Given the description of an element on the screen output the (x, y) to click on. 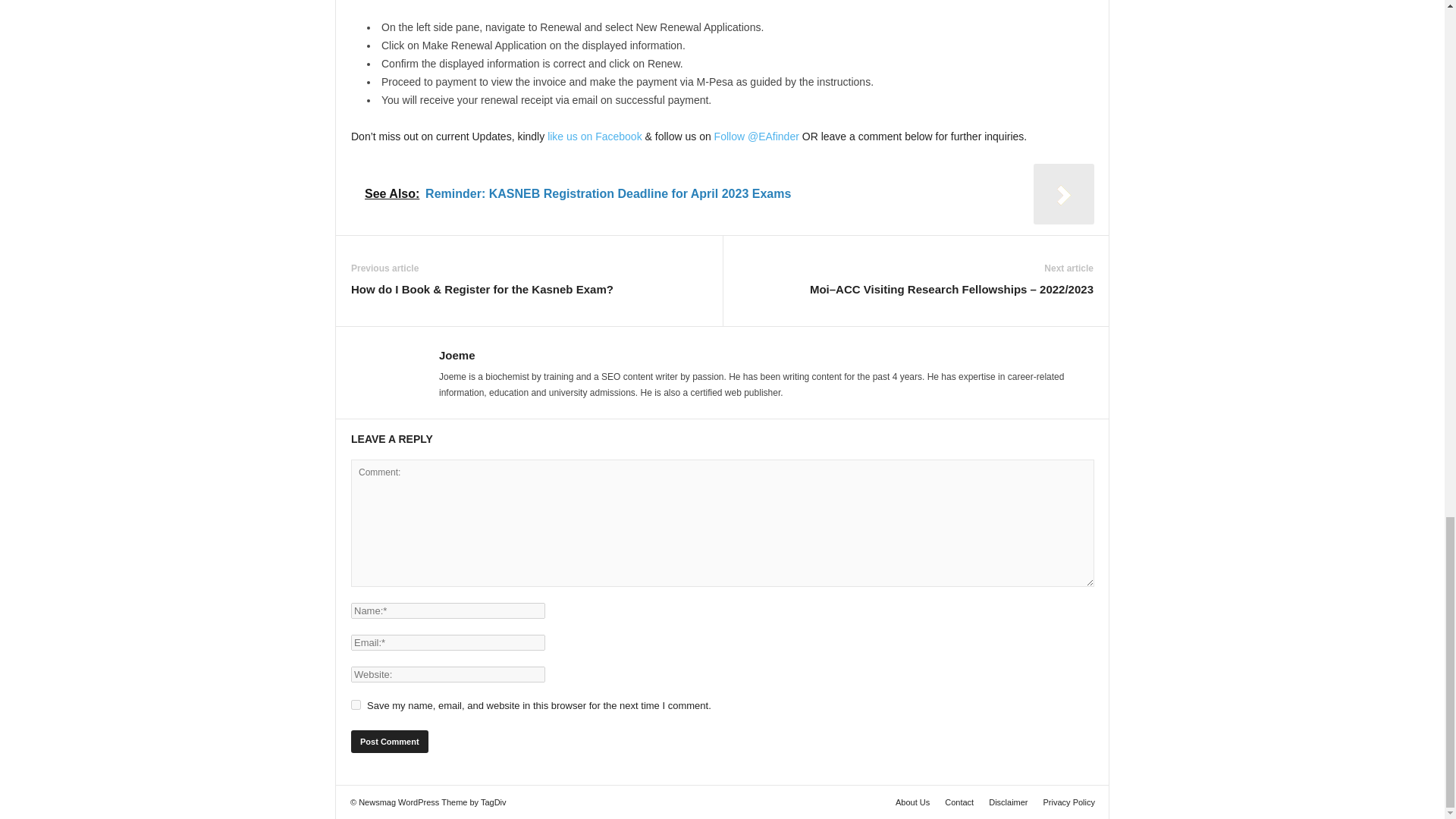
yes (355, 705)
Post Comment (389, 741)
like us on Facebook (594, 136)
Joeme (457, 354)
